Given the description of an element on the screen output the (x, y) to click on. 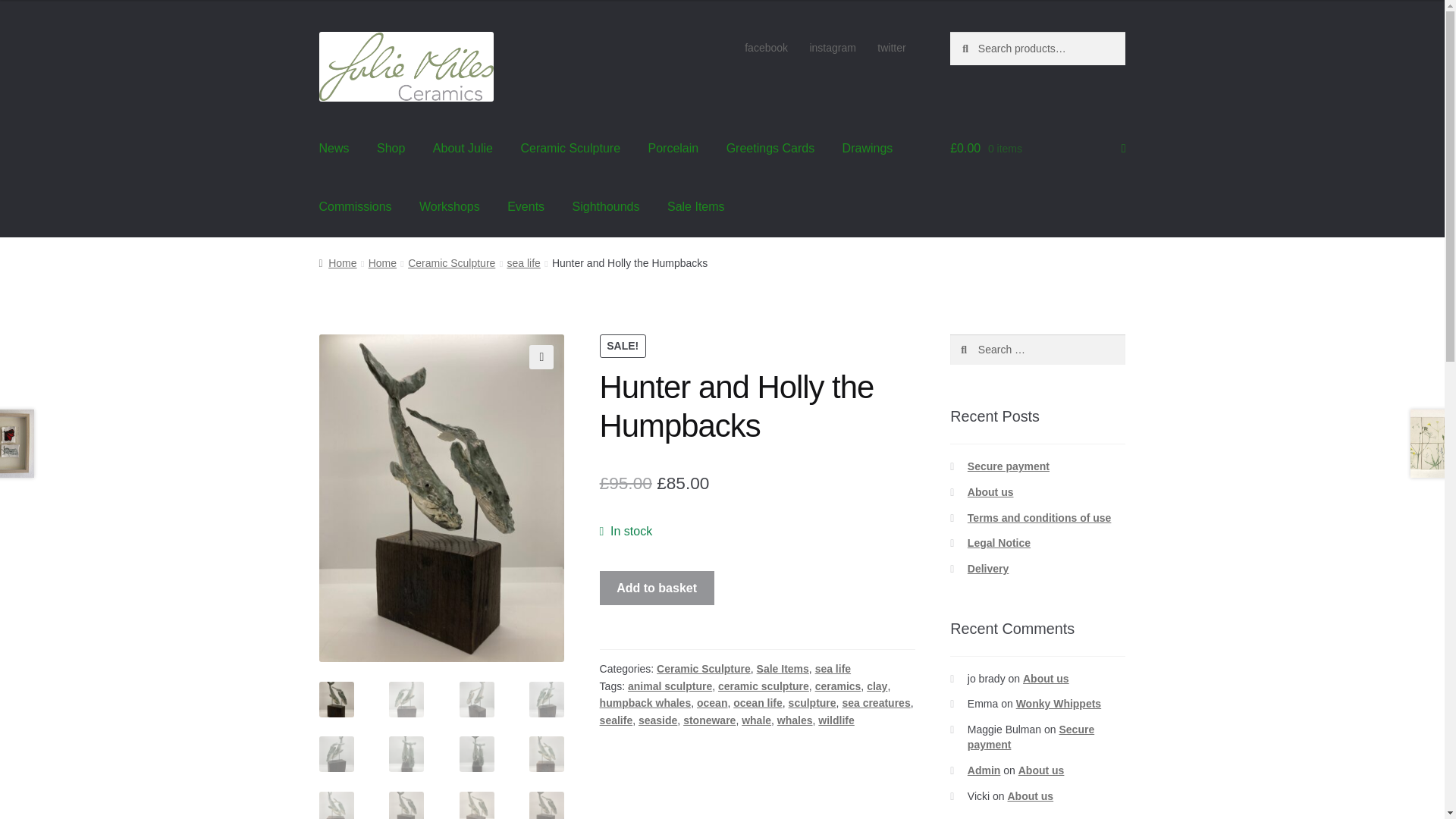
Events (525, 207)
Home (337, 263)
Workshops (449, 207)
humpback5 (441, 497)
About Julie (462, 148)
instagram (831, 47)
Ceramic Sculpture (569, 148)
Home (382, 263)
sea life (523, 263)
Porcelain (672, 148)
View your shopping basket (1037, 148)
Sighthounds (606, 207)
Ceramic Sculpture (451, 263)
humpback19 (686, 503)
Shop (390, 148)
